Given the description of an element on the screen output the (x, y) to click on. 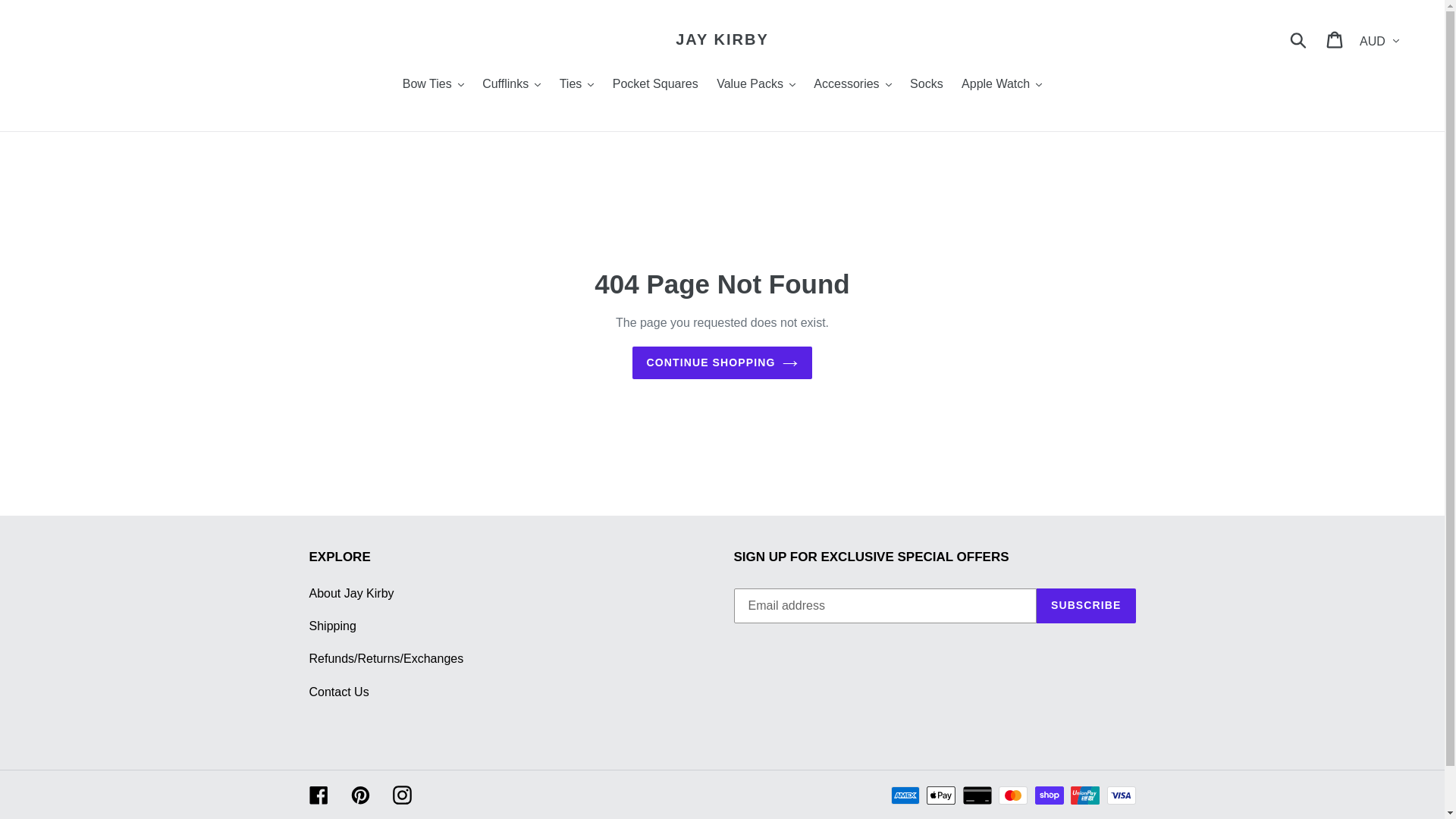
Contact Us Element type: text (339, 691)
Shipping Element type: text (332, 625)
Facebook Element type: text (318, 794)
Submit Element type: text (1298, 39)
Cart Element type: text (1335, 39)
Instagram Element type: text (401, 794)
Pocket Squares Element type: text (655, 85)
CONTINUE SHOPPING Element type: text (722, 362)
JAY KIRBY Element type: text (721, 39)
Refunds/Returns/Exchanges Element type: text (386, 658)
Socks Element type: text (926, 85)
SUBSCRIBE Element type: text (1085, 605)
About Jay Kirby Element type: text (351, 592)
Pinterest Element type: text (359, 794)
